Given the description of an element on the screen output the (x, y) to click on. 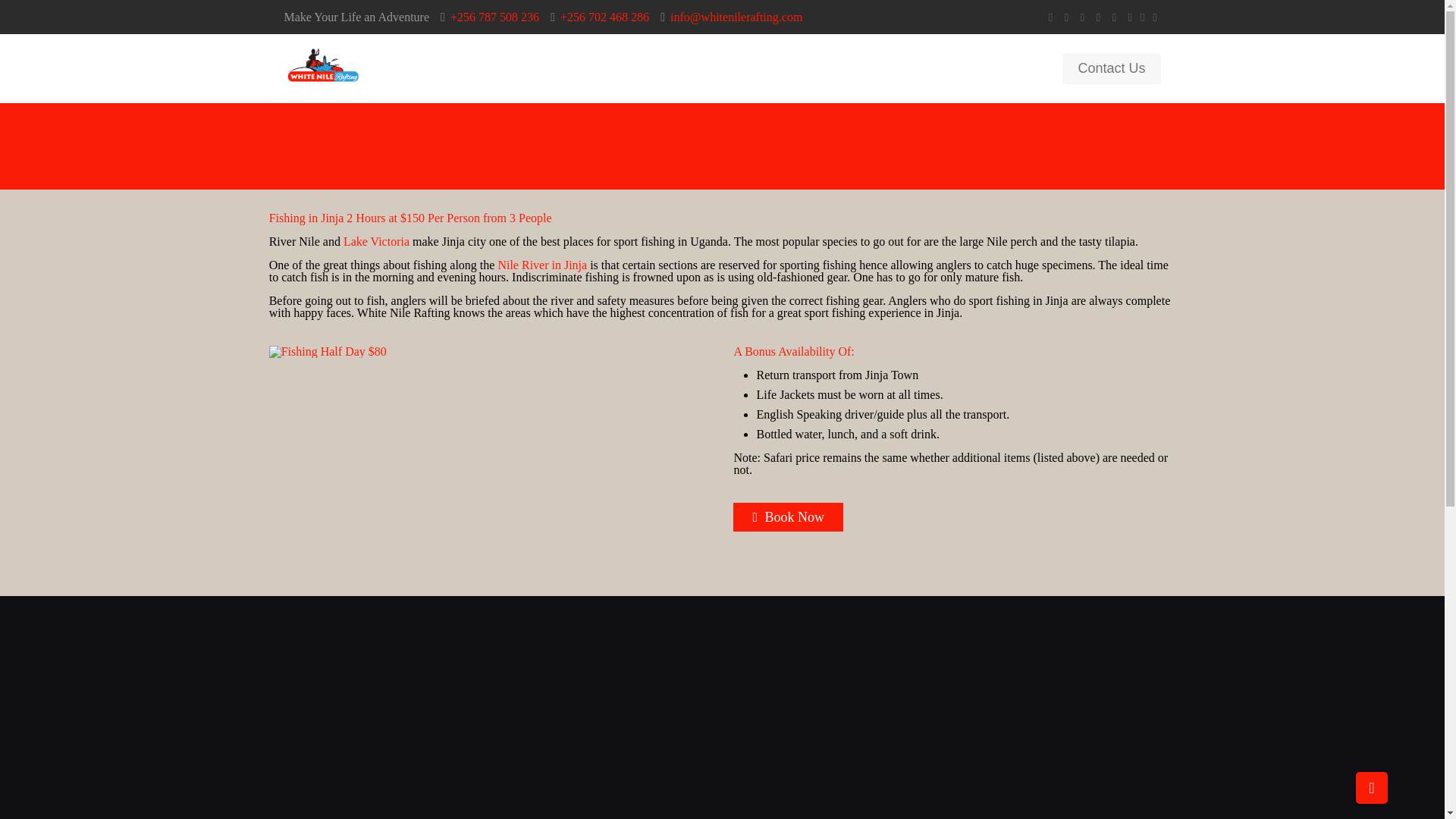
Facebook (1066, 17)
Tripadvisor (1129, 17)
Tubing (559, 68)
YouTube (1098, 17)
Camping (758, 68)
Kayaking Trips (655, 68)
Rafting (487, 68)
WhatsApp (1051, 17)
Fishing half day (328, 351)
Other Activities (860, 68)
